Given the description of an element on the screen output the (x, y) to click on. 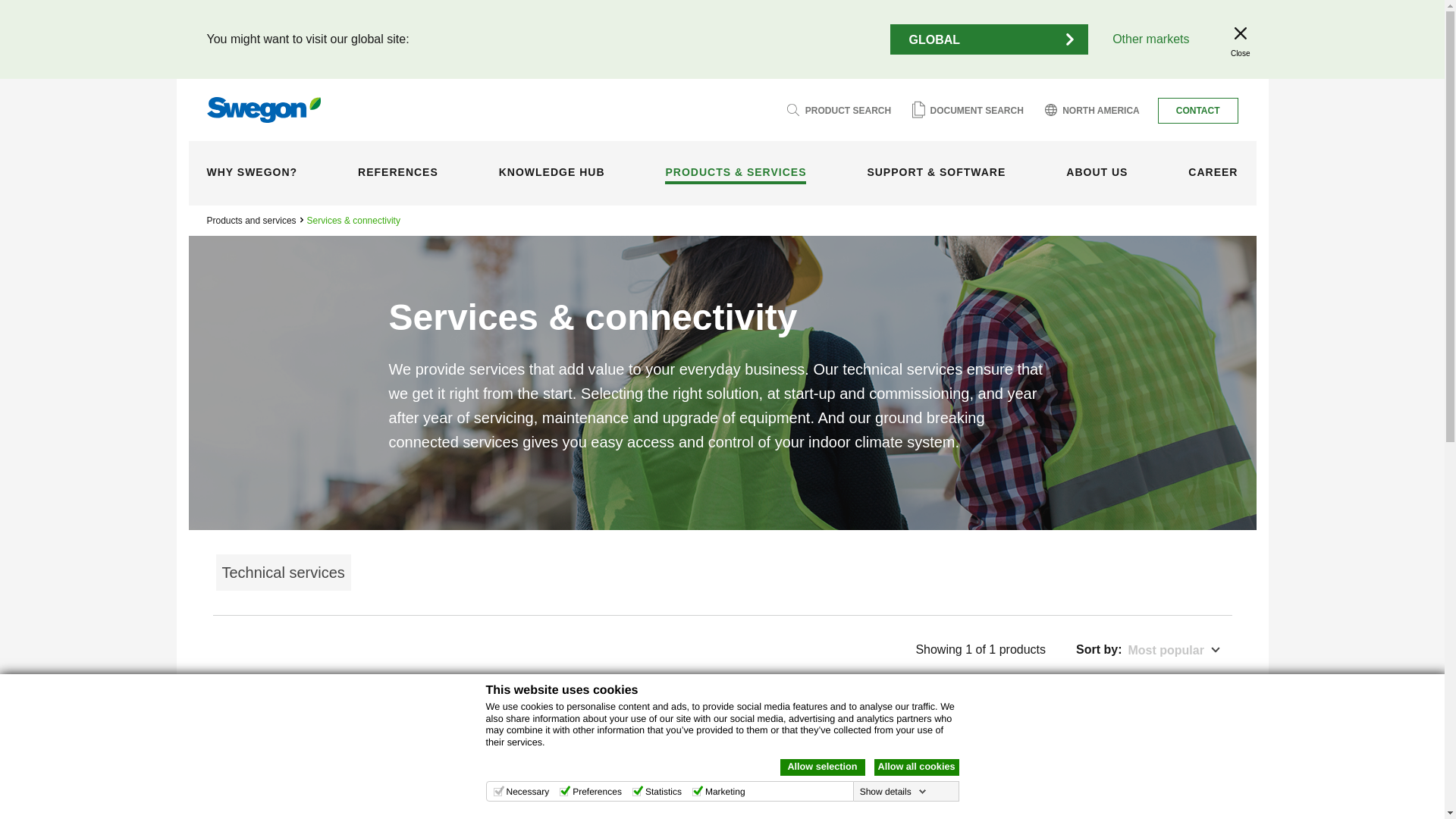
Allow selection (821, 767)
Allow all cookies (915, 767)
Show details (893, 791)
